Given the description of an element on the screen output the (x, y) to click on. 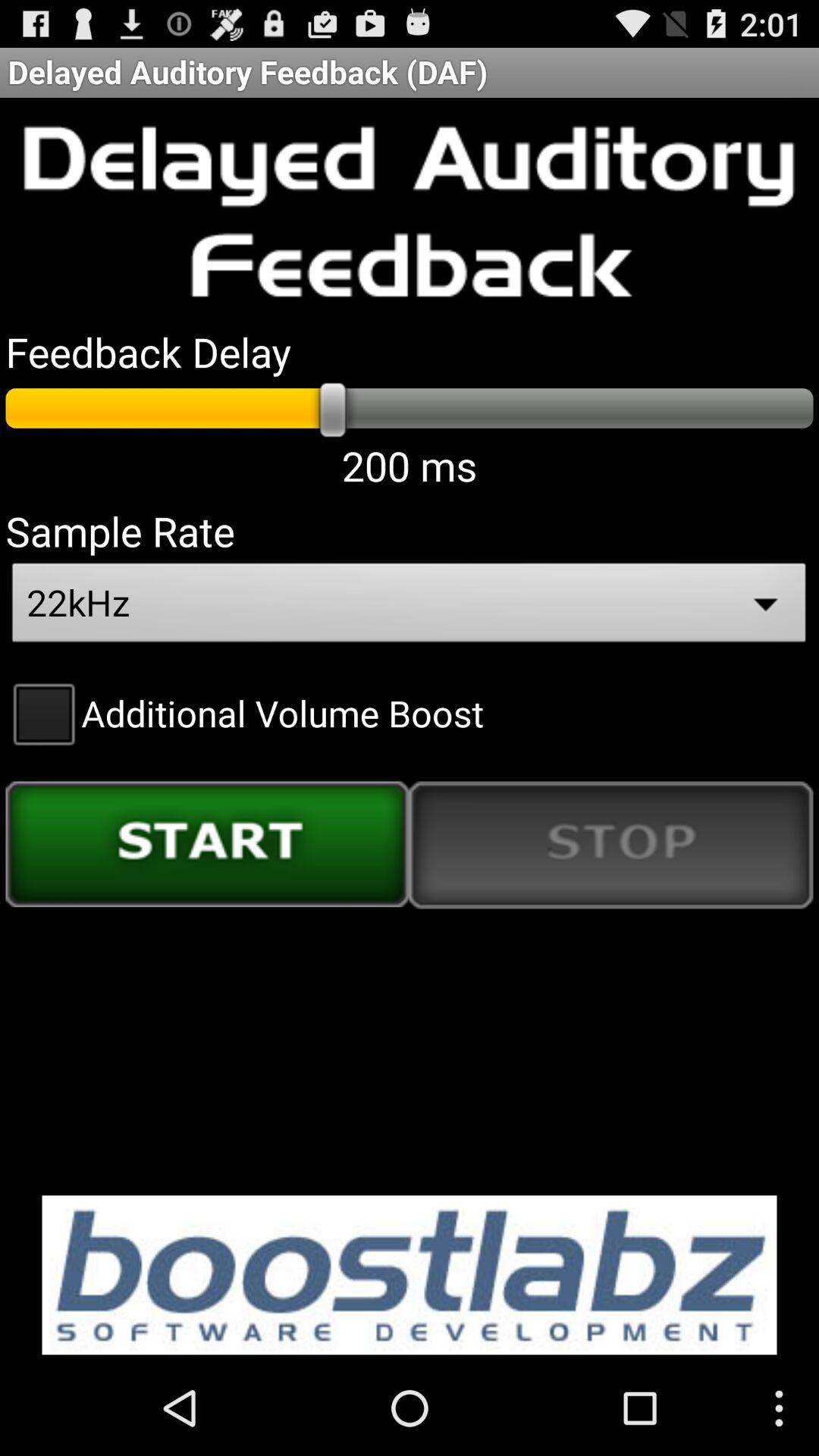
swipe to additional volume boost checkbox (244, 712)
